Given the description of an element on the screen output the (x, y) to click on. 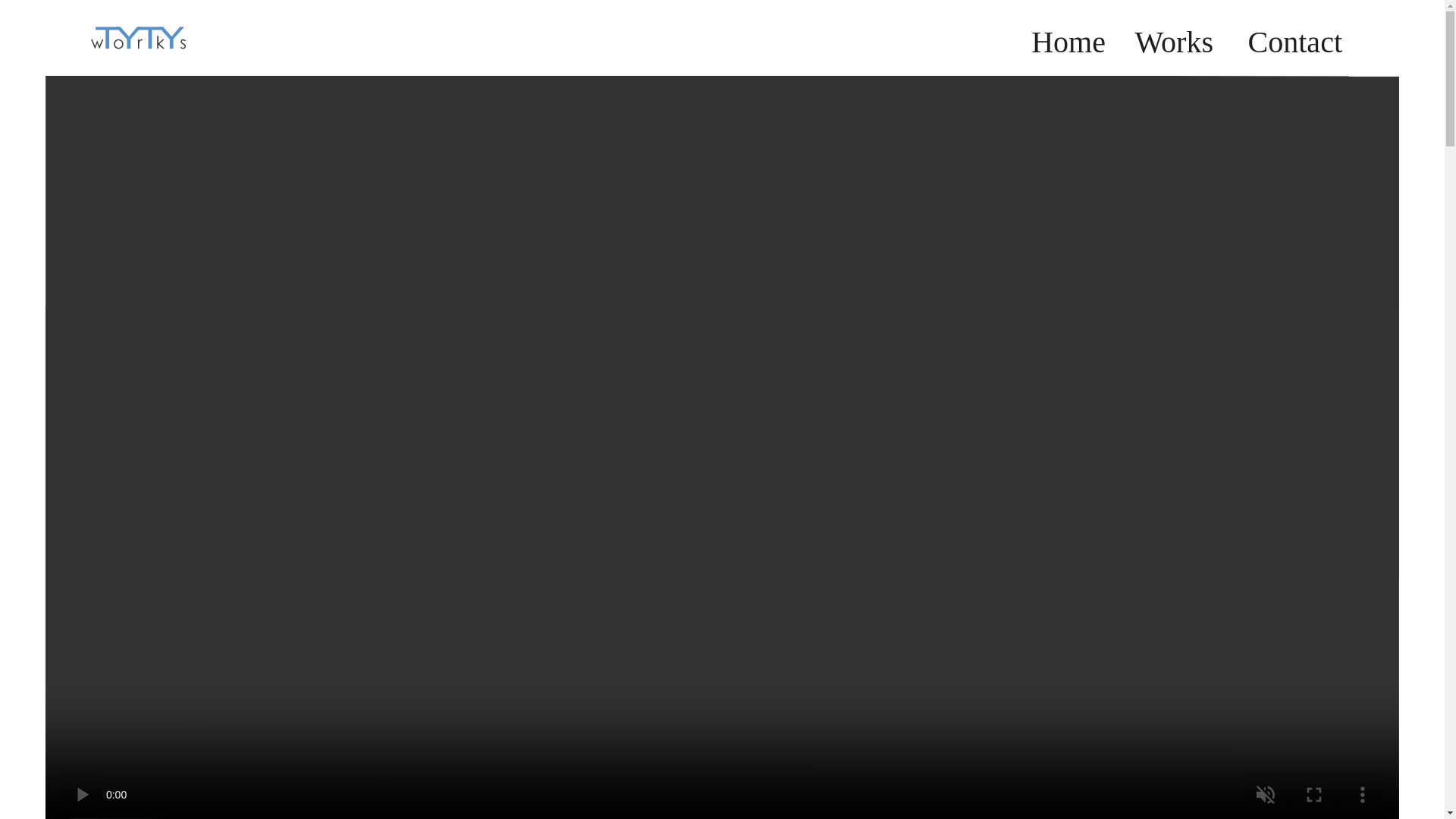
Home (1063, 38)
Contact (1289, 38)
Works (1170, 38)
